Given the description of an element on the screen output the (x, y) to click on. 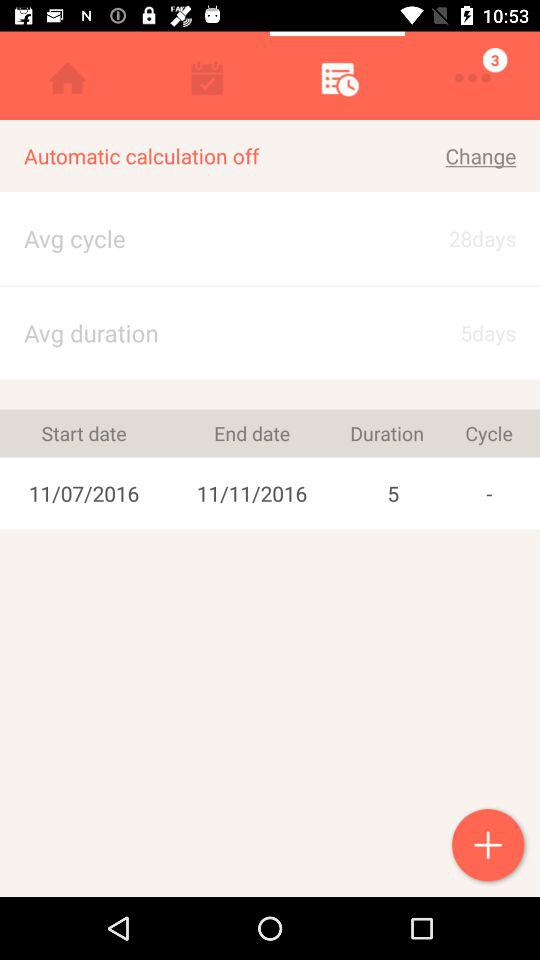
click the 5 icon (393, 493)
